Given the description of an element on the screen output the (x, y) to click on. 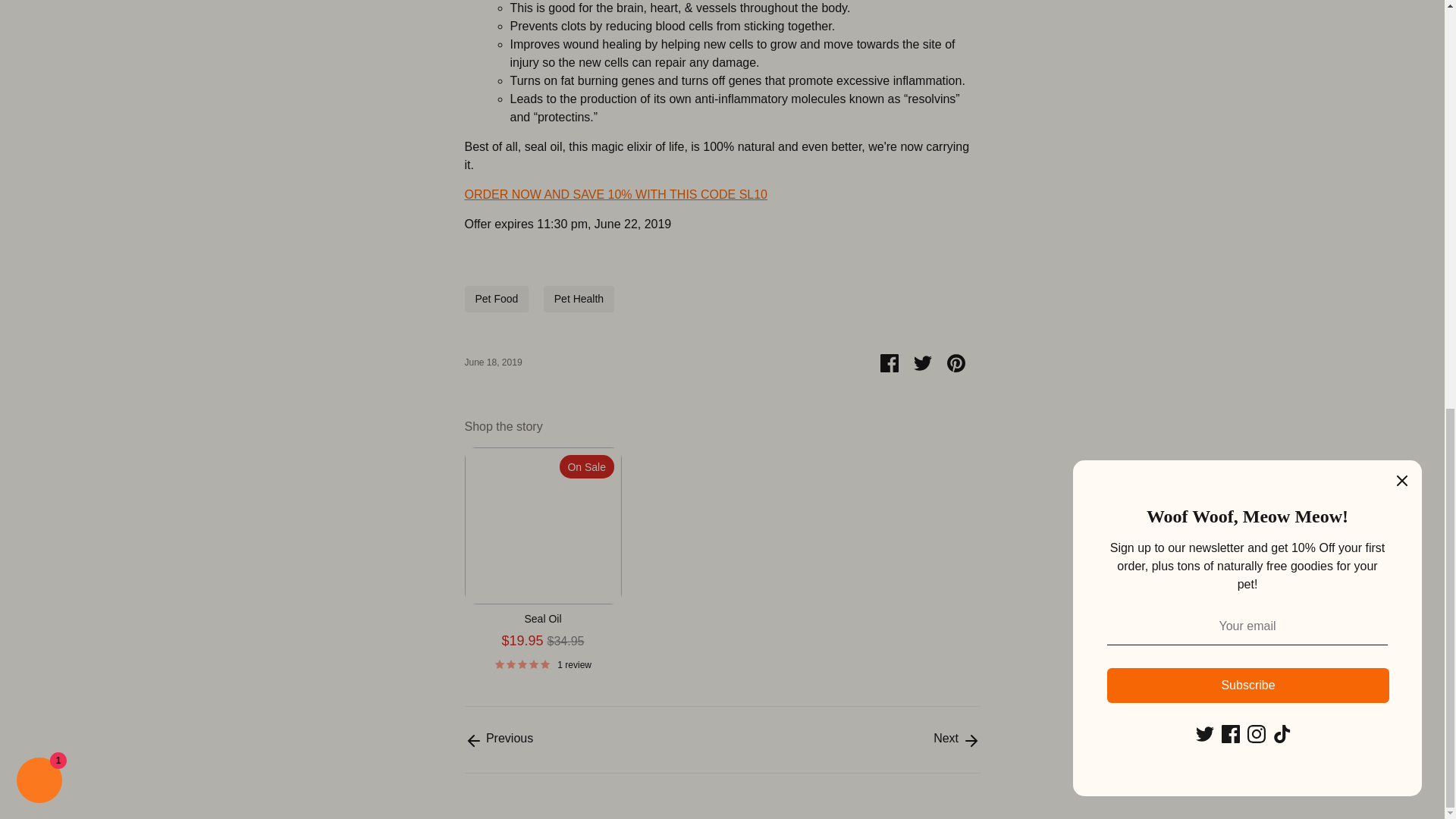
mrs. meadys seal oil for cats and dogs (615, 194)
